Given the description of an element on the screen output the (x, y) to click on. 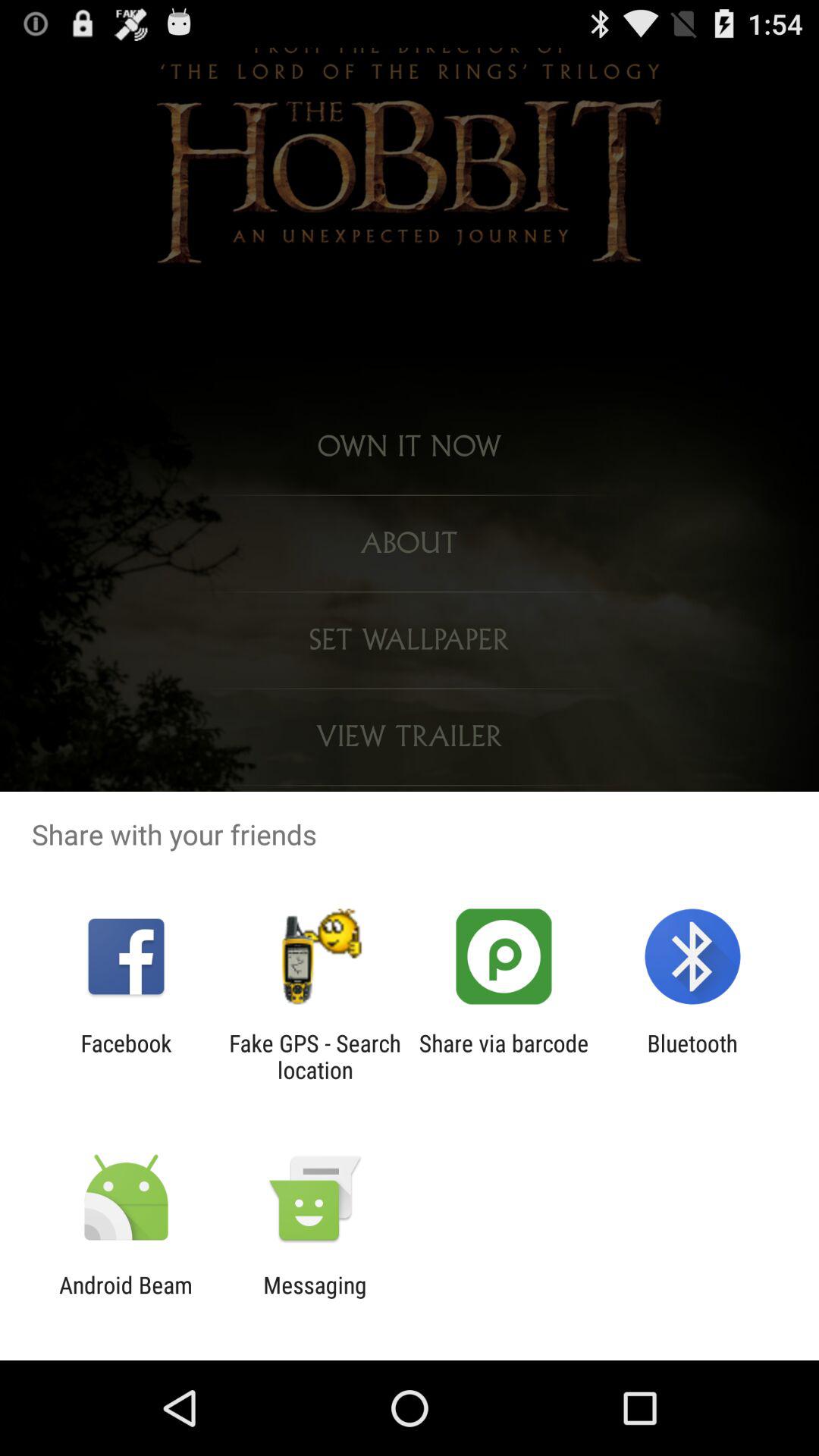
press the icon next to the fake gps search (503, 1056)
